Given the description of an element on the screen output the (x, y) to click on. 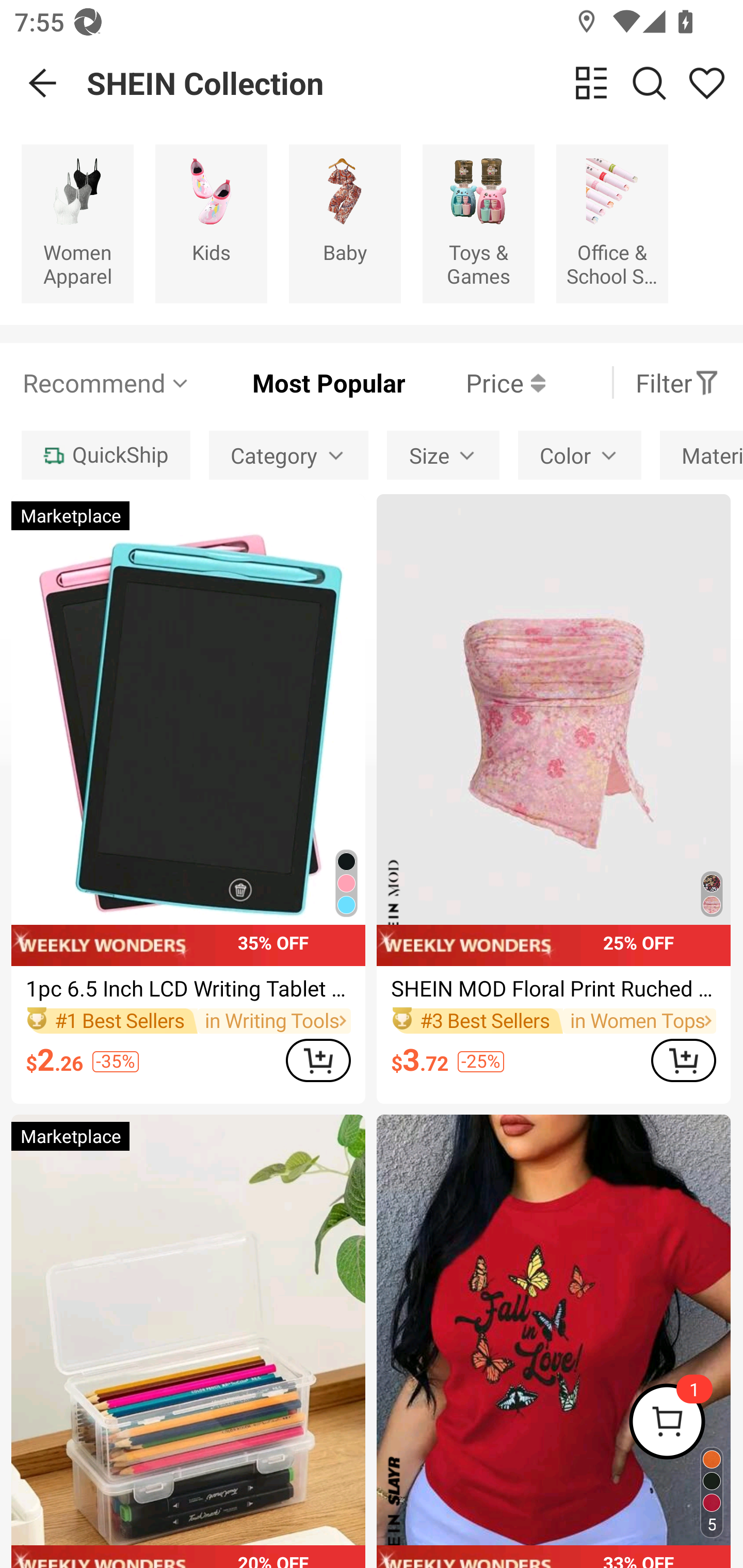
SHEIN Collection change view Search Share (414, 82)
change view (591, 82)
Search (648, 82)
Share (706, 82)
Women Apparel (77, 223)
Kids (211, 223)
Baby (345, 223)
Toys & Games (478, 223)
Office & School Supplies (611, 223)
Recommend (106, 382)
Most Popular (297, 382)
Price (474, 382)
Filter (677, 382)
QuickShip (105, 455)
Category (288, 455)
Size (443, 455)
Color (579, 455)
Material (701, 455)
#1 Best Sellers in Writing Tools (188, 1020)
#3 Best Sellers in Women Tops (553, 1020)
ADD TO CART (318, 1059)
ADD TO CART (683, 1059)
